Given the description of an element on the screen output the (x, y) to click on. 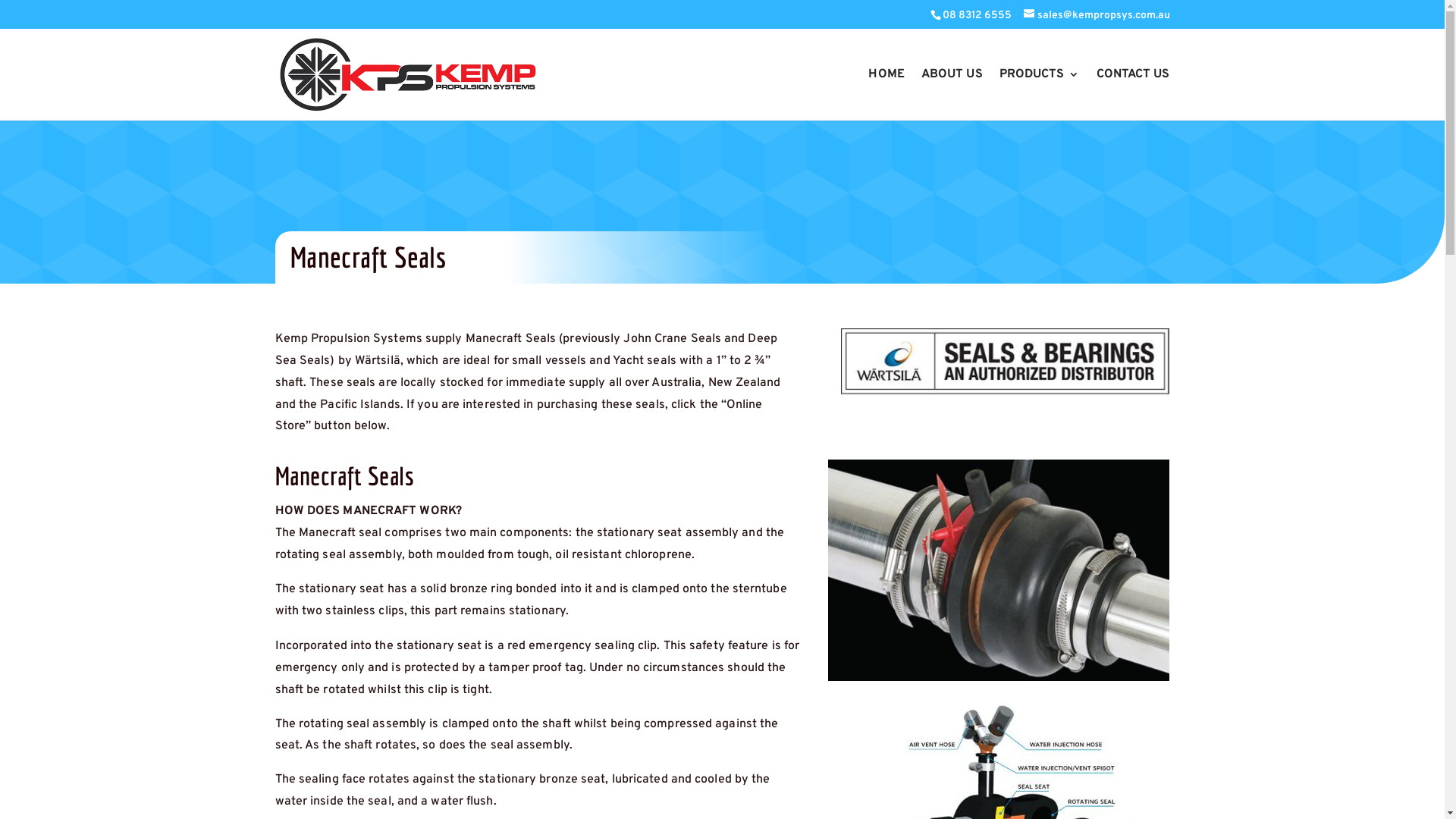
08 8312 6555 Element type: text (975, 15)
sales@kempropsys.com.au Element type: text (1096, 15)
PRODUCTS Element type: text (1039, 91)
ABOUT US Element type: text (951, 91)
CONTACT US Element type: text (1133, 91)
Manecraft Seals | Kemp Propulsion Systems Element type: hover (999, 569)
HOME Element type: text (885, 91)
